Given the description of an element on the screen output the (x, y) to click on. 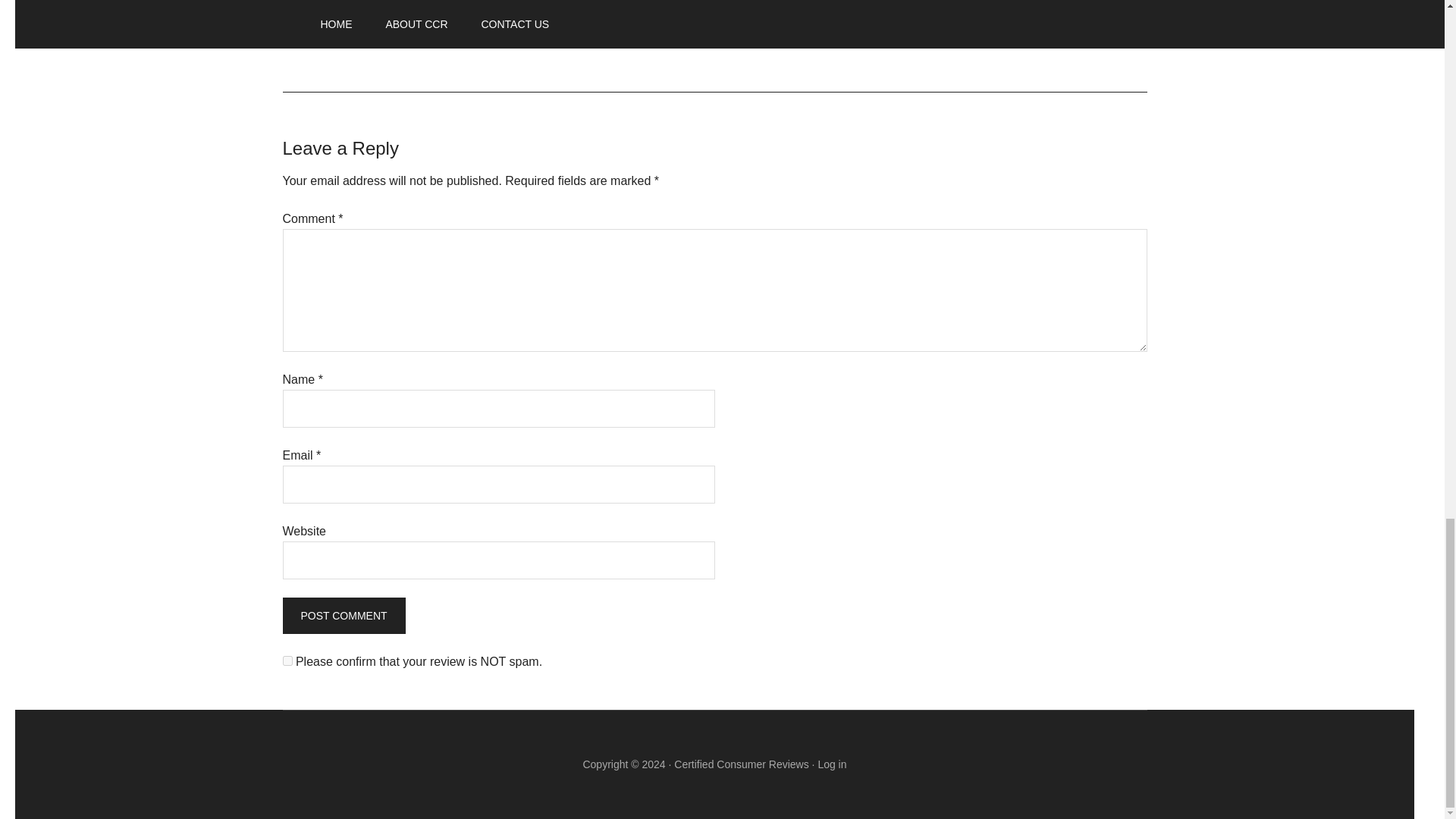
Post Comment (343, 615)
Log in (830, 764)
Certified Consumer Reviews (741, 764)
on (287, 660)
Post Comment (343, 615)
